Given the description of an element on the screen output the (x, y) to click on. 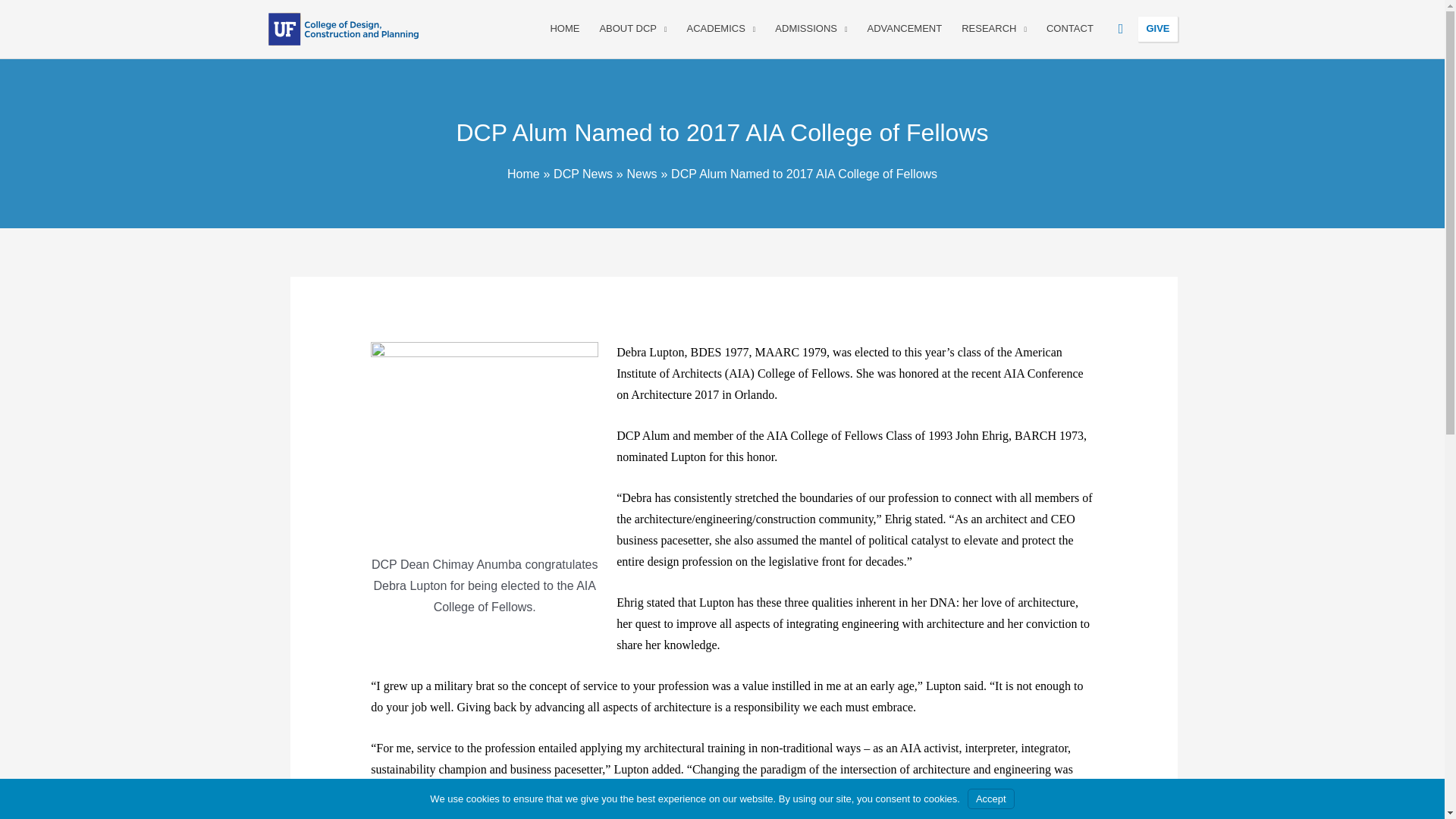
ADVANCEMENT (904, 28)
ABOUT DCP (633, 28)
HOME (564, 28)
ADMISSIONS (811, 28)
RESEARCH (994, 28)
ACADEMICS (721, 28)
